Given the description of an element on the screen output the (x, y) to click on. 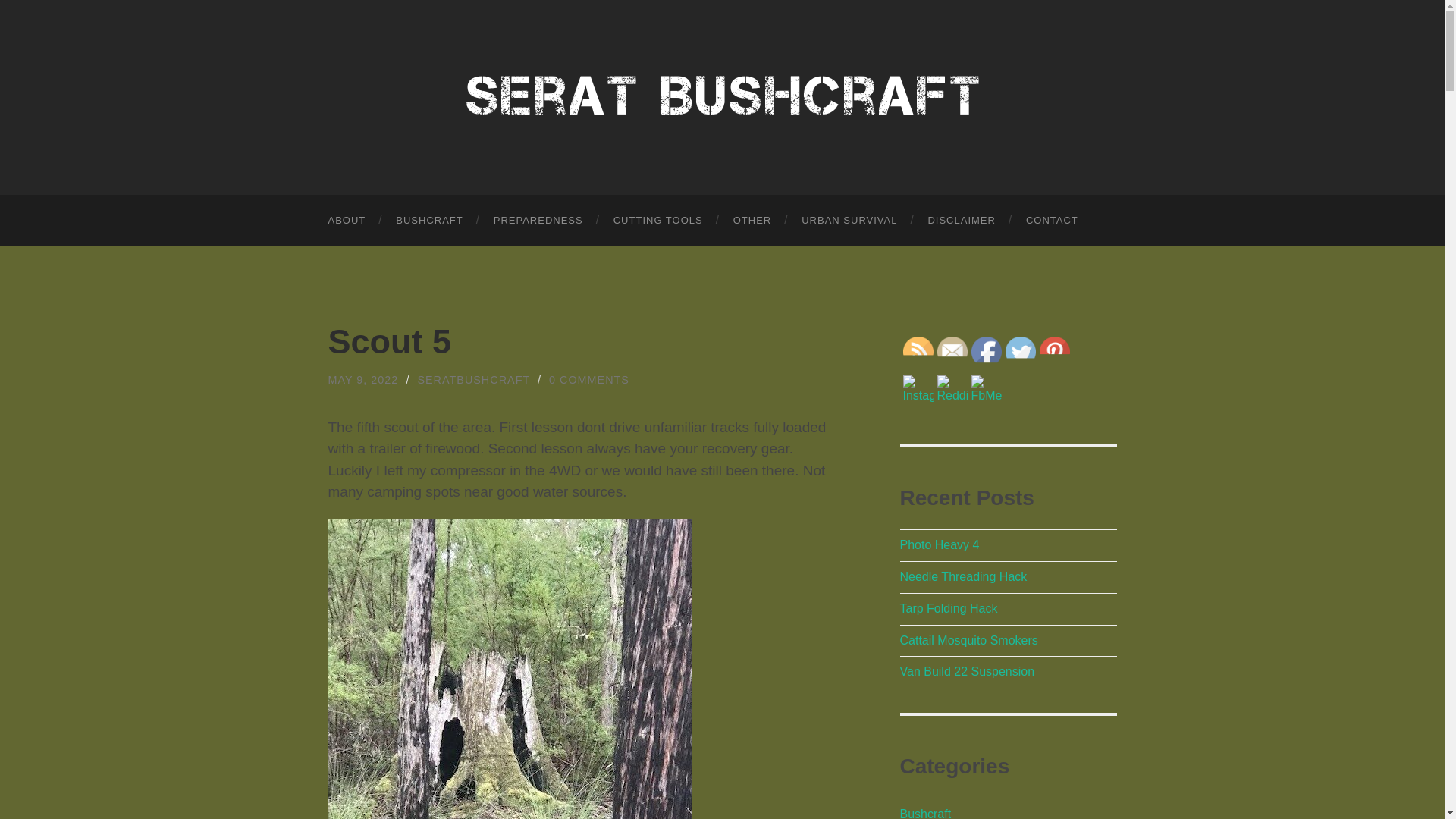
BUSHCRAFT (428, 219)
URBAN SURVIVAL (849, 219)
Photo Heavy 4 (938, 544)
RSS (917, 351)
ABOUT (346, 219)
CUTTING TOOLS (657, 219)
Serat Bushcraft (721, 95)
SERATBUSHCRAFT (472, 379)
Instagram (917, 389)
OTHER (752, 219)
